Given the description of an element on the screen output the (x, y) to click on. 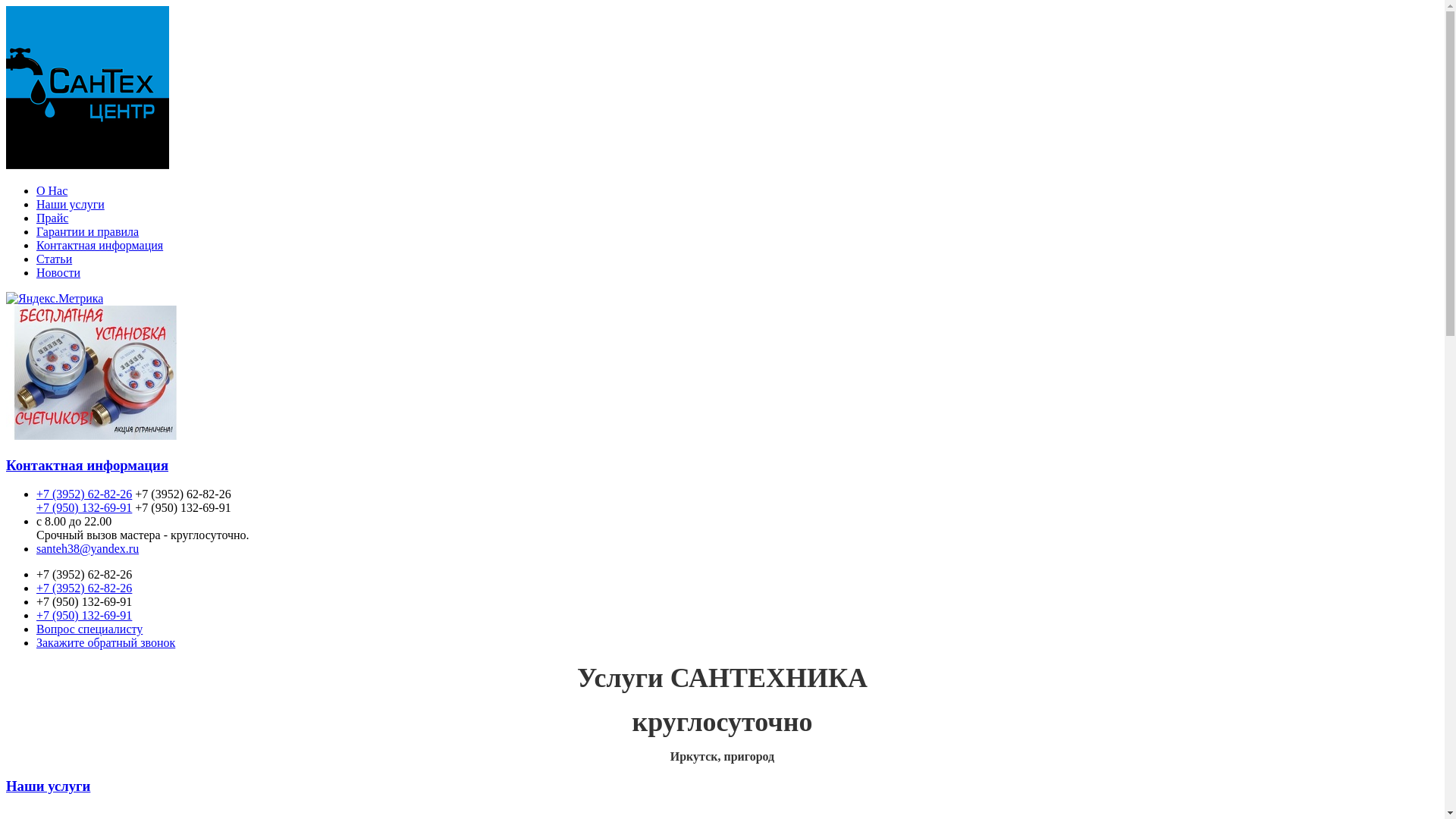
+7 (950) 132-69-91 Element type: text (83, 507)
+7 (3952) 62-82-26 Element type: text (83, 493)
santeh38@yandex.ru Element type: text (87, 548)
+7 (3952) 62-82-26 Element type: text (83, 587)
+7 (950) 132-69-91 Element type: text (83, 614)
